Given the description of an element on the screen output the (x, y) to click on. 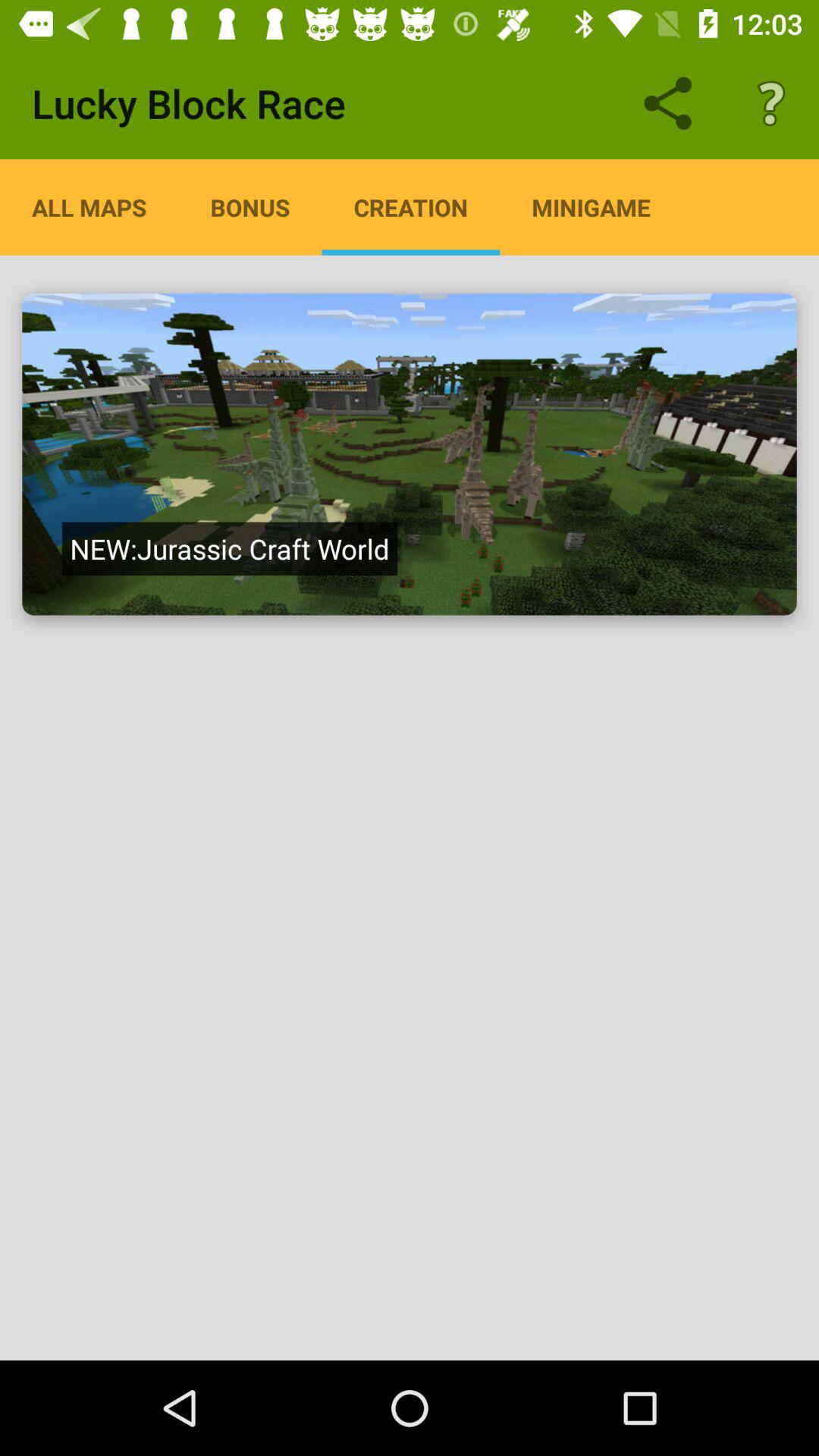
turn off bonus (249, 207)
